Given the description of an element on the screen output the (x, y) to click on. 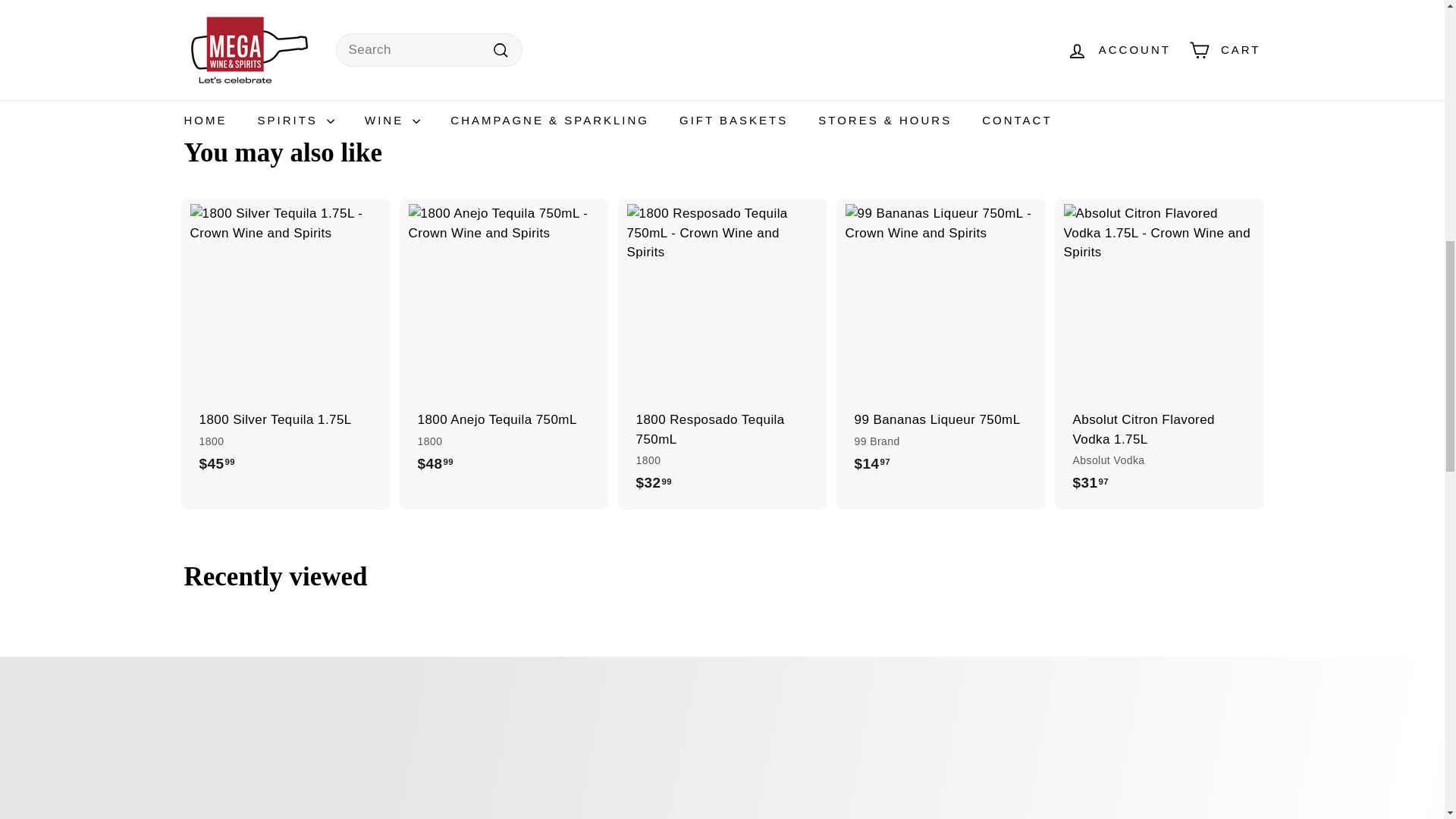
Share on Facebook (686, 53)
Pin on Pinterest (838, 53)
Tweet on X (763, 53)
